Given the description of an element on the screen output the (x, y) to click on. 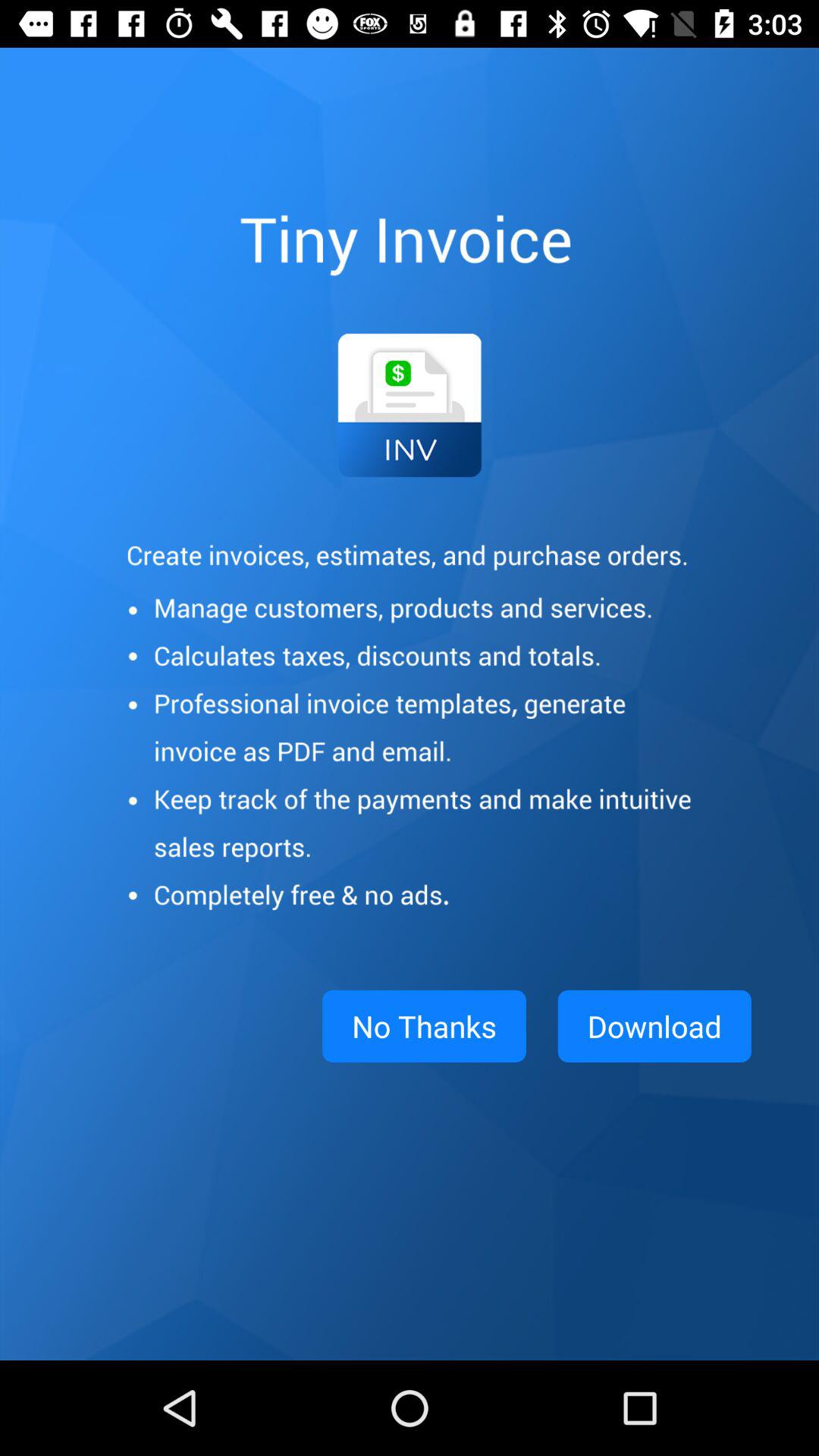
click the download item (654, 1026)
